Given the description of an element on the screen output the (x, y) to click on. 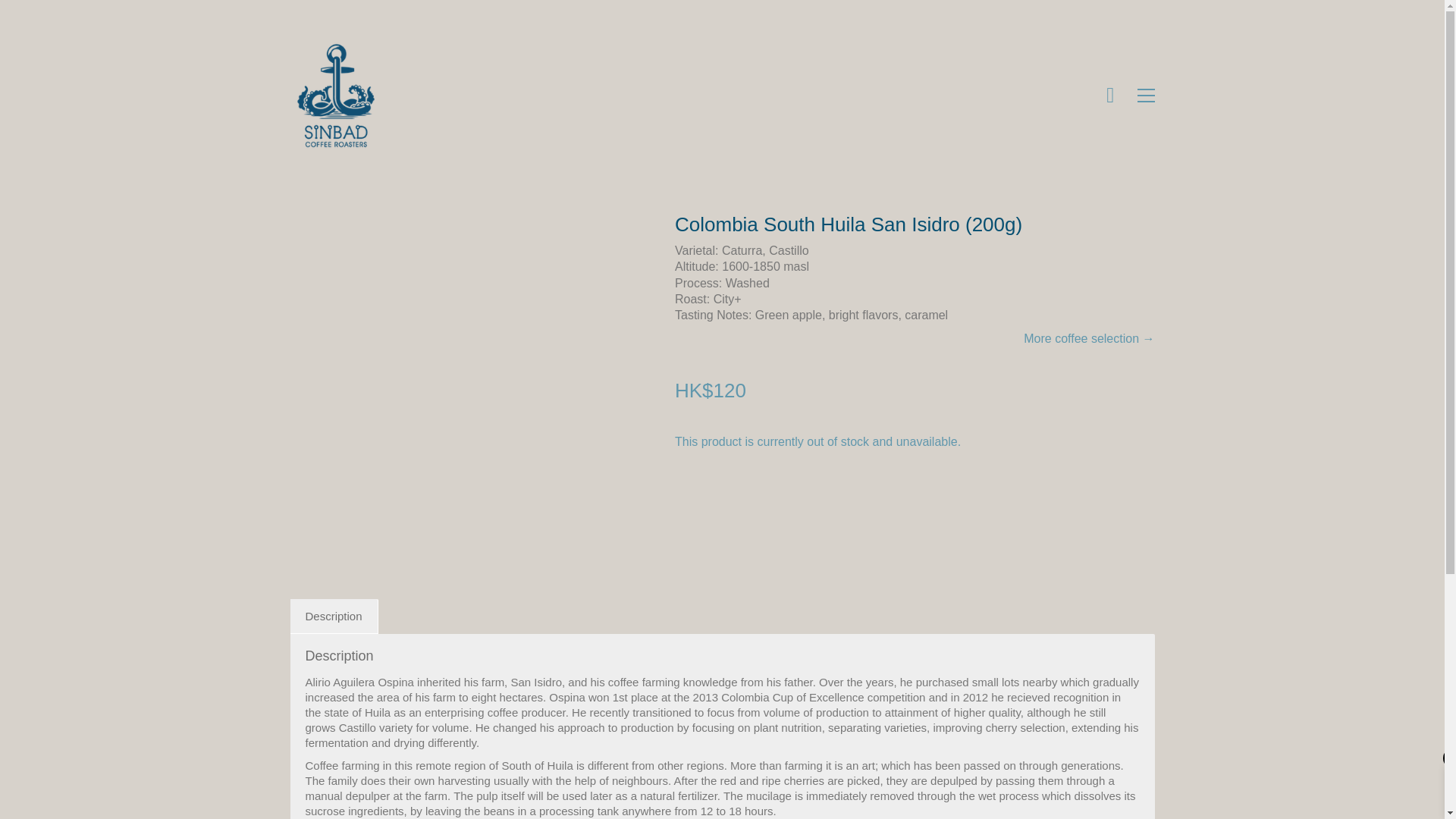
Description (333, 615)
Twitter (757, 731)
Instagram (719, 731)
Facebook (681, 731)
